Given the description of an element on the screen output the (x, y) to click on. 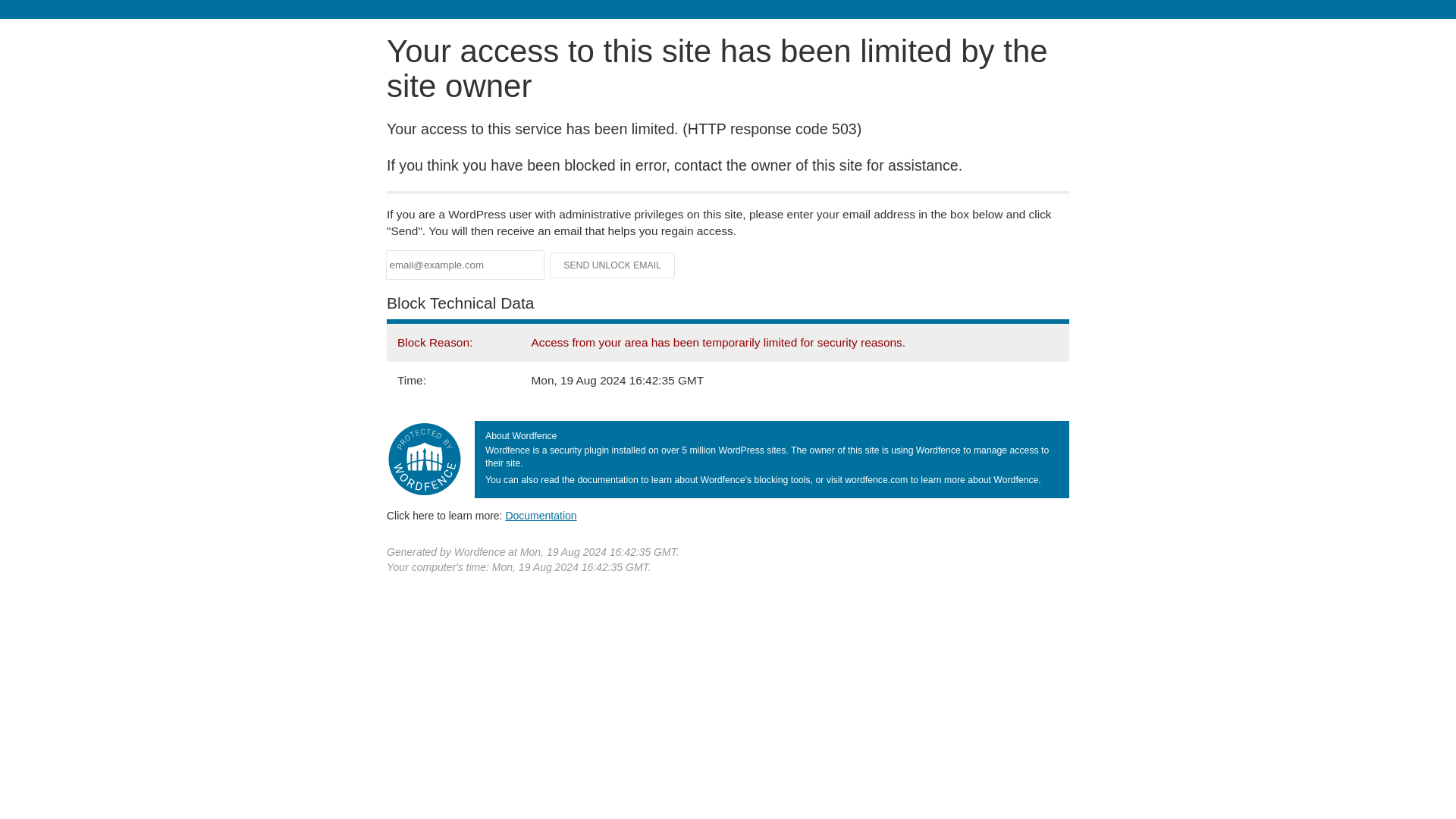
Send Unlock Email (612, 265)
Documentation (540, 515)
Send Unlock Email (612, 265)
